Given the description of an element on the screen output the (x, y) to click on. 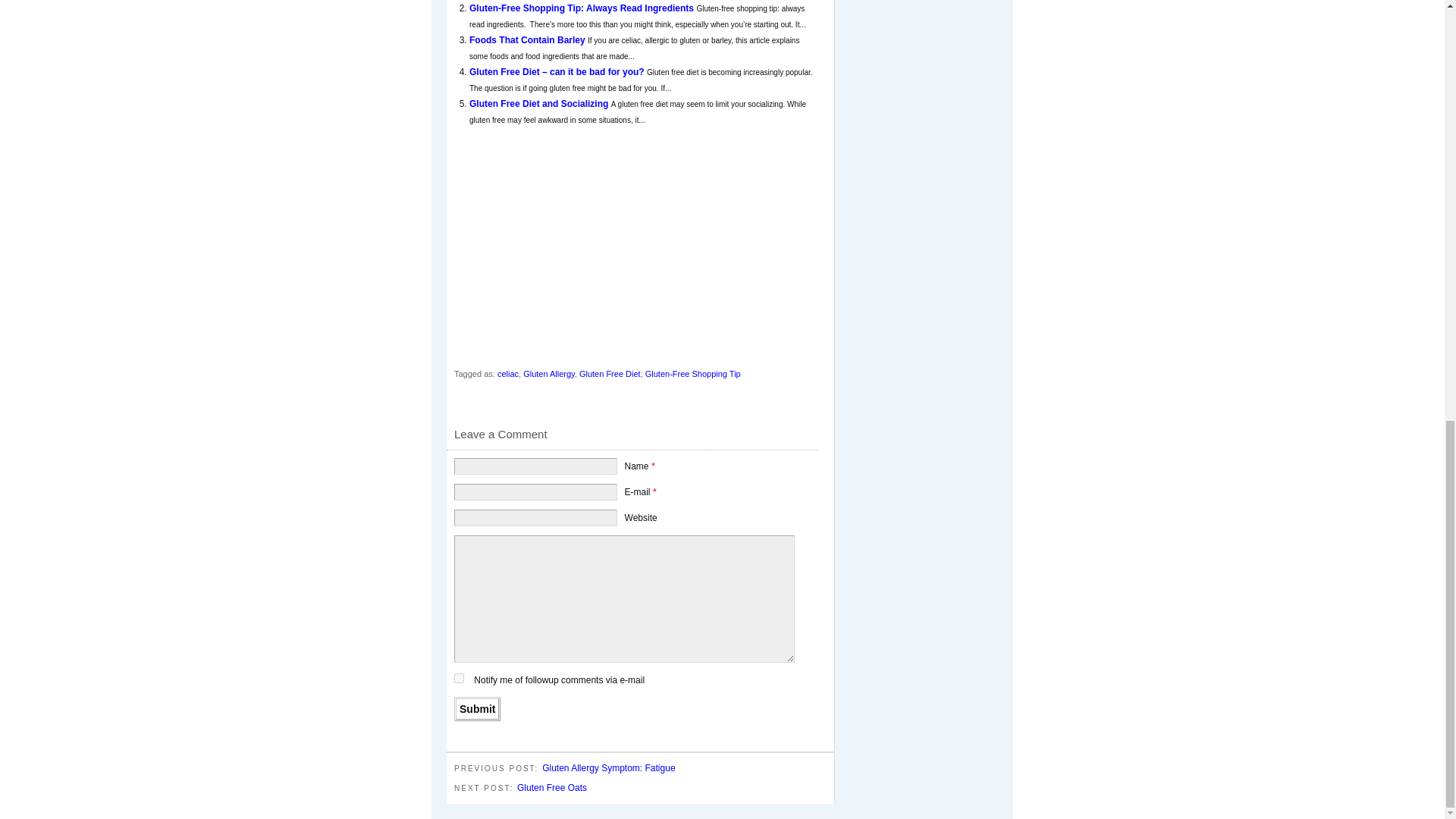
Gluten-Free Shopping Tip: Always Read Ingredients (581, 8)
Submit (477, 708)
Gluten-Free Shopping Tip (693, 373)
Gluten Allergy (548, 373)
Advertisement (581, 249)
Gluten-Free Shopping Tip: Always Read Ingredients (581, 8)
Gluten Allergy Symptom: Fatigue (608, 767)
subscribe (459, 678)
Gluten Free Oats (551, 787)
Gluten Free Diet and Socializing (539, 103)
